Given the description of an element on the screen output the (x, y) to click on. 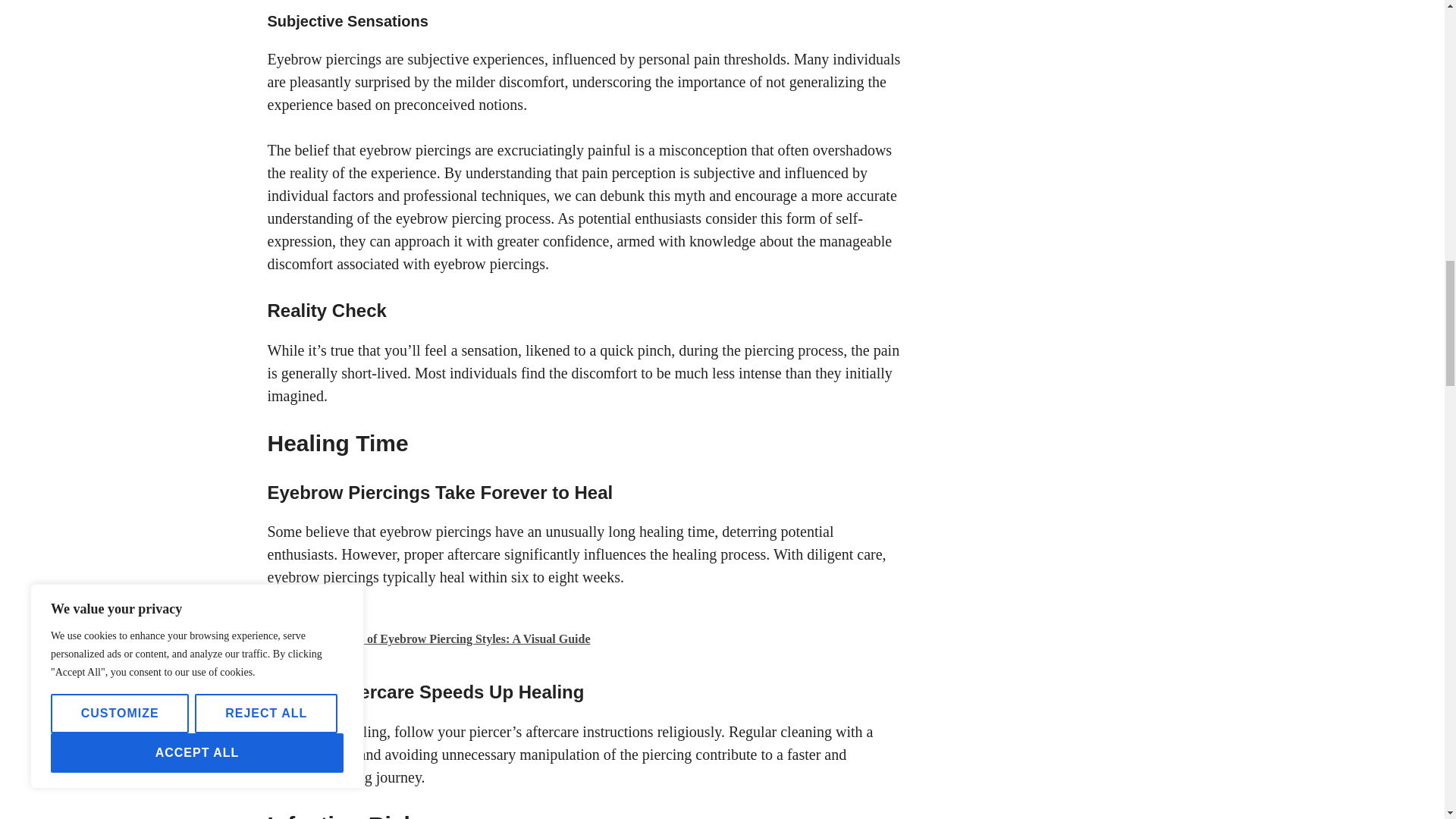
See also  Types of Eyebrow Piercing Styles: A Visual Guide (585, 637)
